Given the description of an element on the screen output the (x, y) to click on. 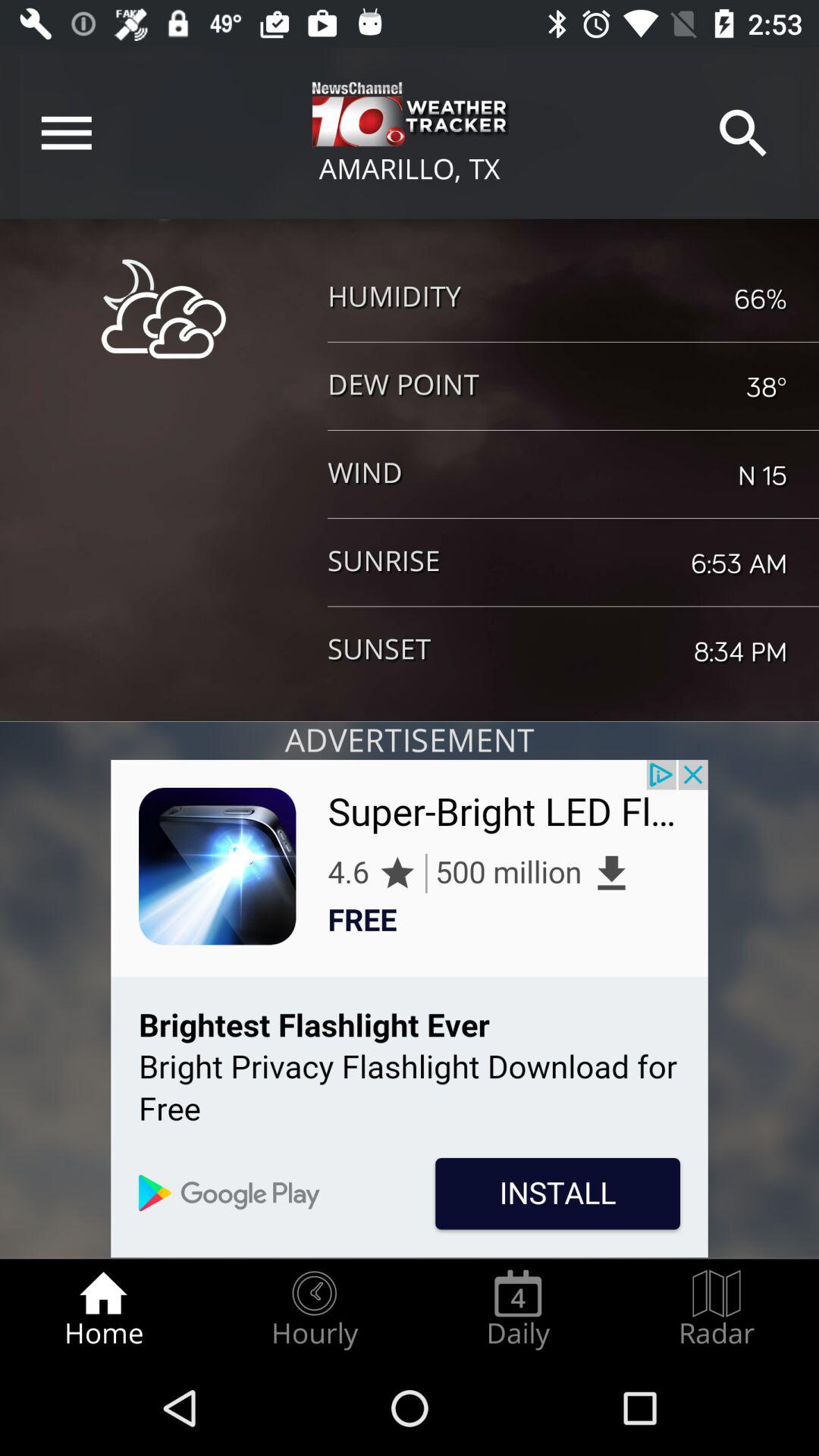
install app (409, 1008)
